Given the description of an element on the screen output the (x, y) to click on. 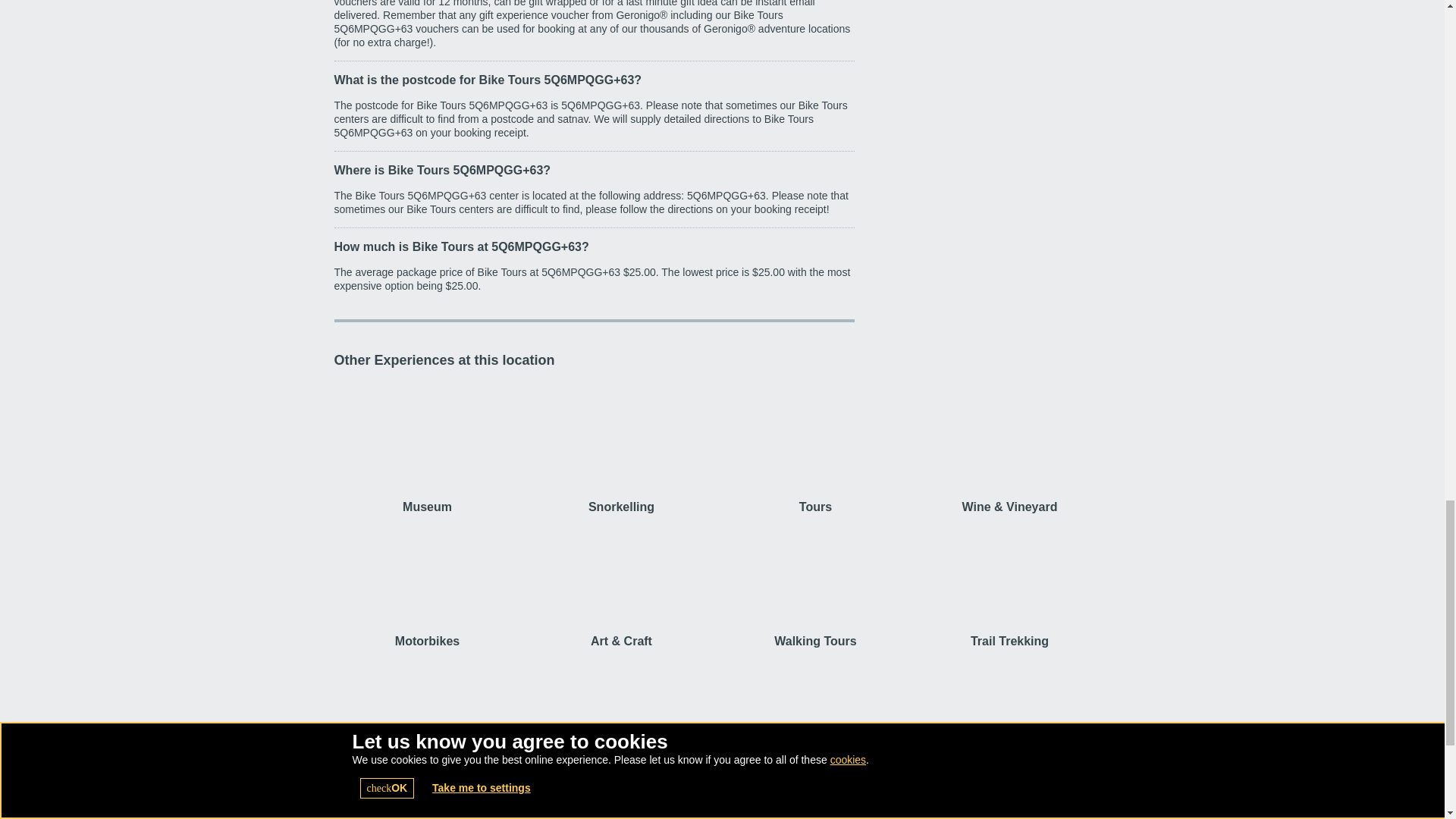
Walking Tours (815, 581)
Museum (426, 447)
Tours details, packages (815, 447)
Snorkelling details, packages (620, 447)
Paintball (426, 715)
Snorkelling (620, 447)
Trail Trekking (1008, 581)
Museum details, packages (426, 447)
Motorbikes (426, 581)
Motorbikes details, packages (426, 581)
